Given the description of an element on the screen output the (x, y) to click on. 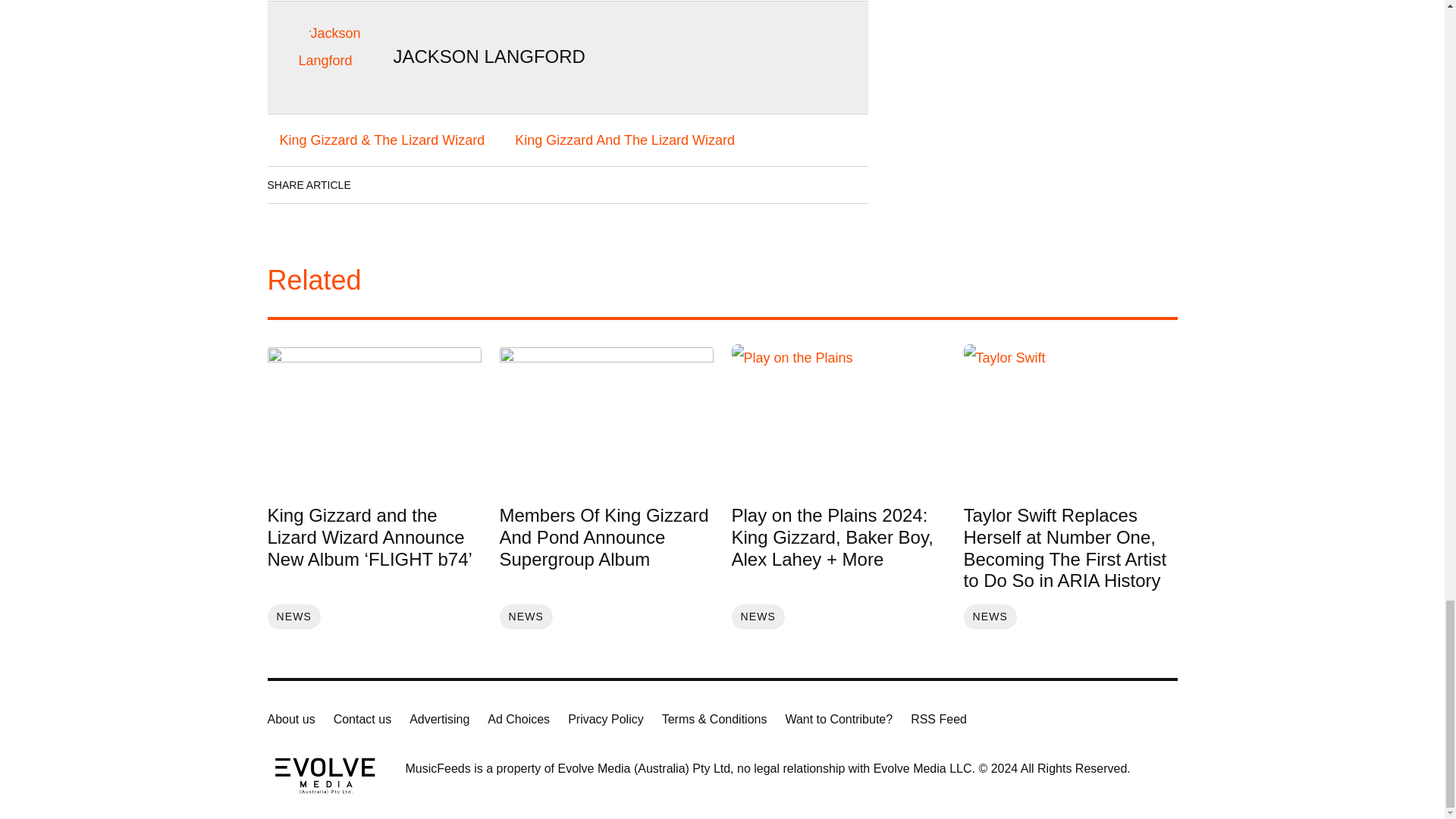
Twitter (463, 184)
JACKSON LANGFORD (489, 55)
King Gizzard And The Lizard Wizard (624, 139)
LinkedIn (420, 184)
Facebook (377, 184)
